Given the description of an element on the screen output the (x, y) to click on. 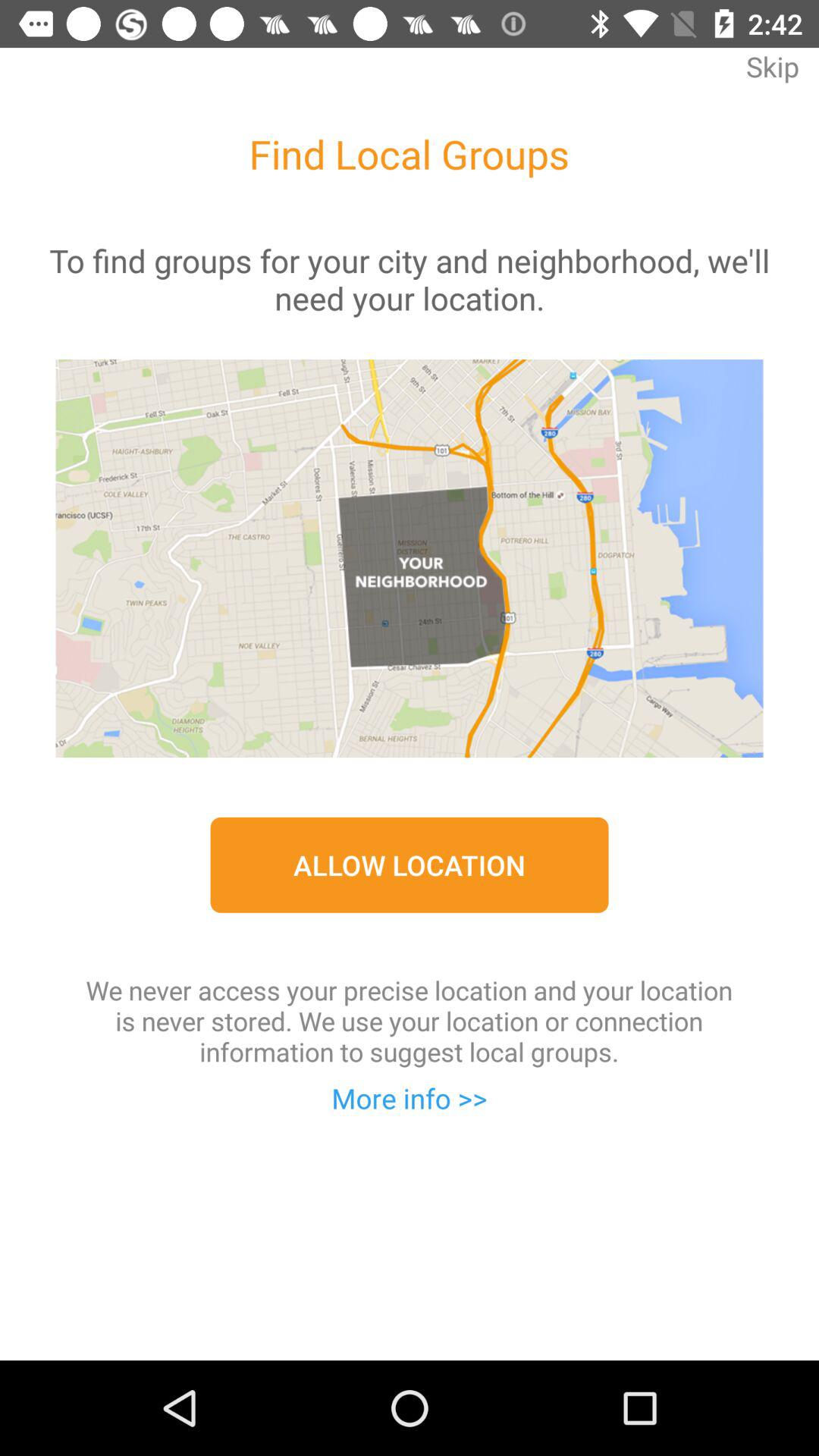
scroll to more info >> item (409, 1098)
